Given the description of an element on the screen output the (x, y) to click on. 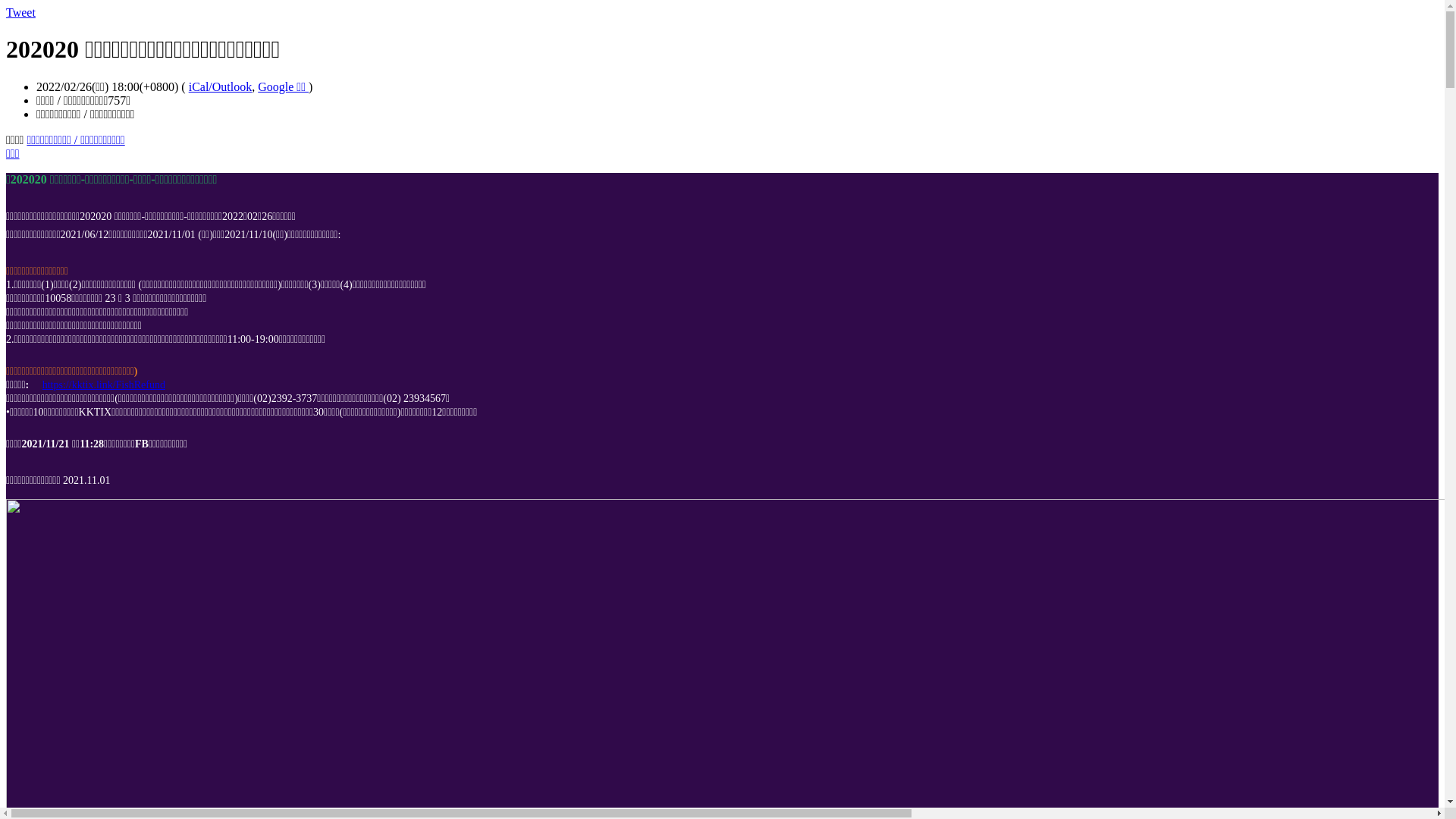
Tweet Element type: text (20, 12)
https://kktix.link/FishRefund Element type: text (103, 384)
iCal/Outlook Element type: text (220, 86)
